Given the description of an element on the screen output the (x, y) to click on. 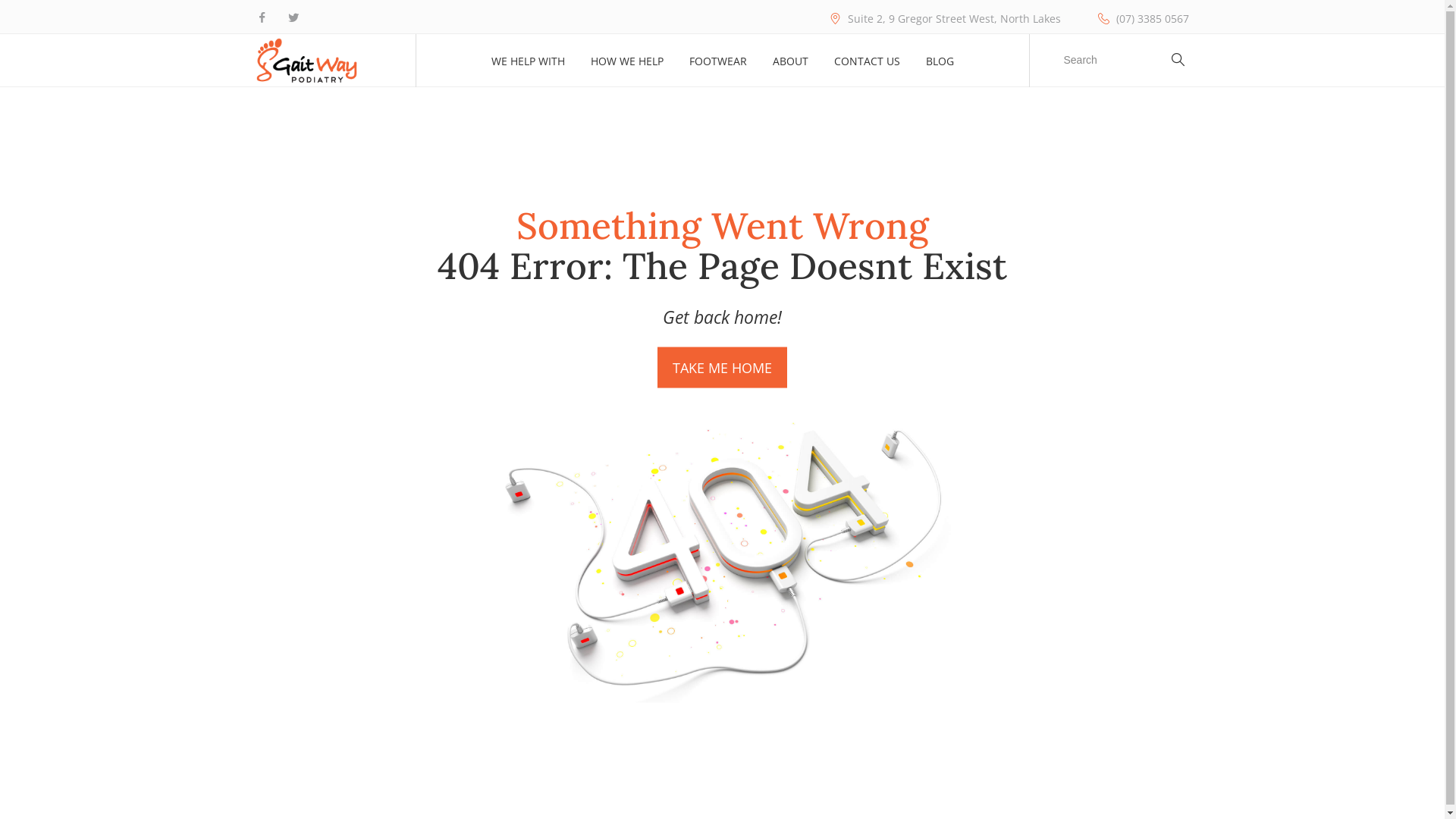
FOOTWEAR Element type: text (717, 60)
HOW WE HELP Element type: text (625, 60)
CONTACT US Element type: text (867, 60)
WE HELP WITH Element type: text (527, 60)
ABOUT Element type: text (789, 60)
TAKE ME HOME Element type: text (722, 367)
BLOG Element type: text (939, 60)
